Given the description of an element on the screen output the (x, y) to click on. 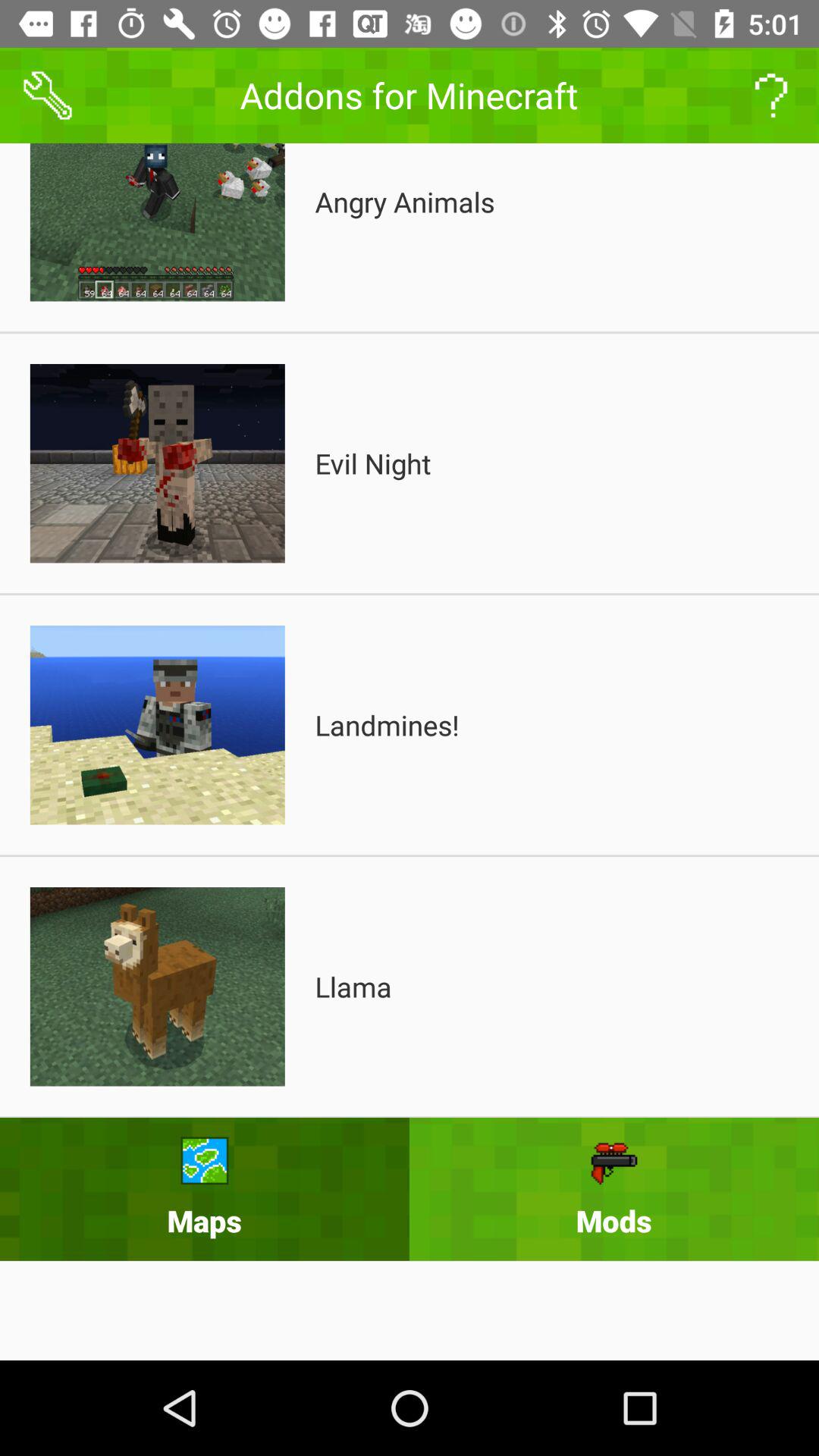
go to settings menu (47, 95)
